Given the description of an element on the screen output the (x, y) to click on. 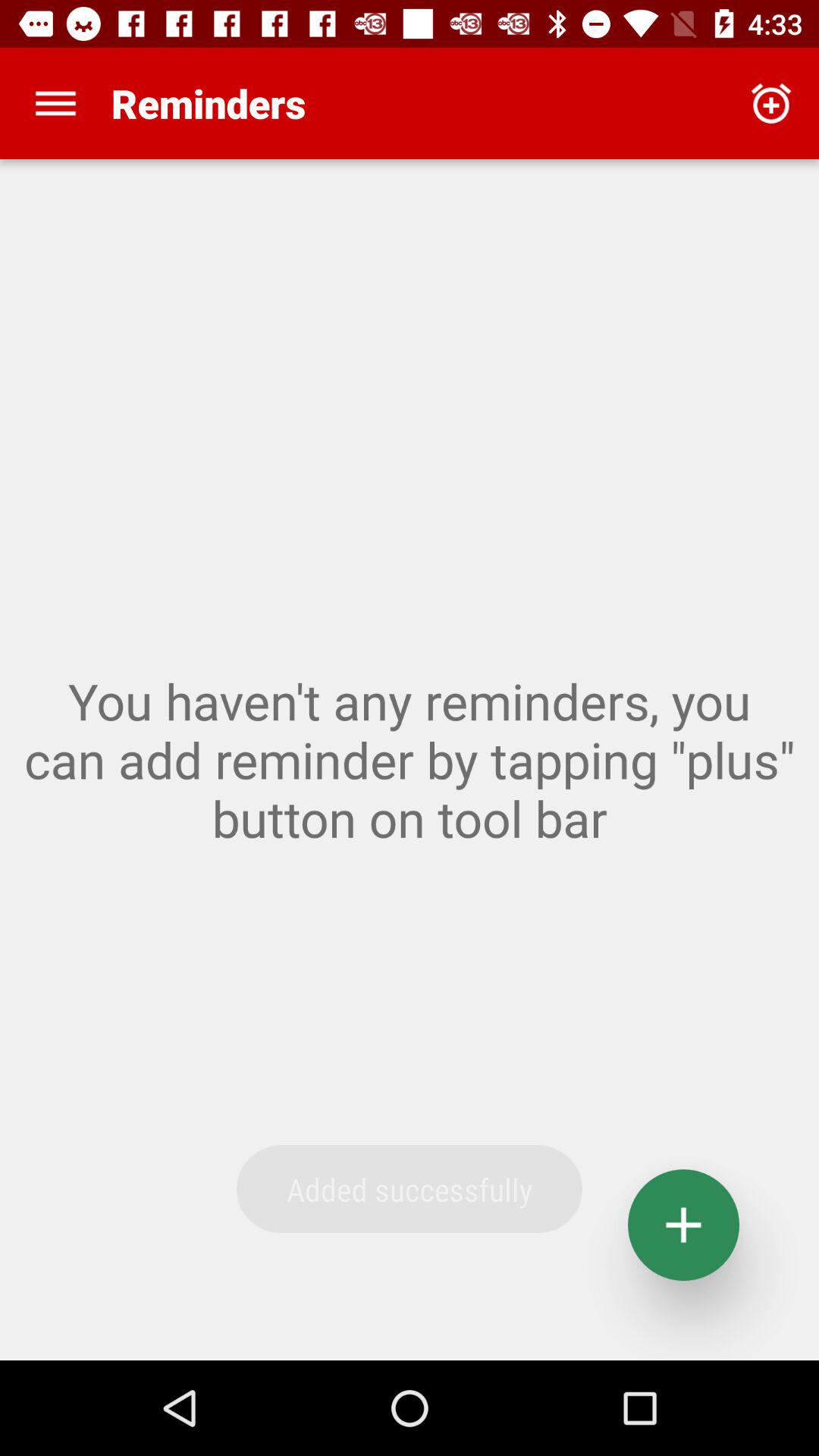
select app to the left of reminders item (55, 103)
